Given the description of an element on the screen output the (x, y) to click on. 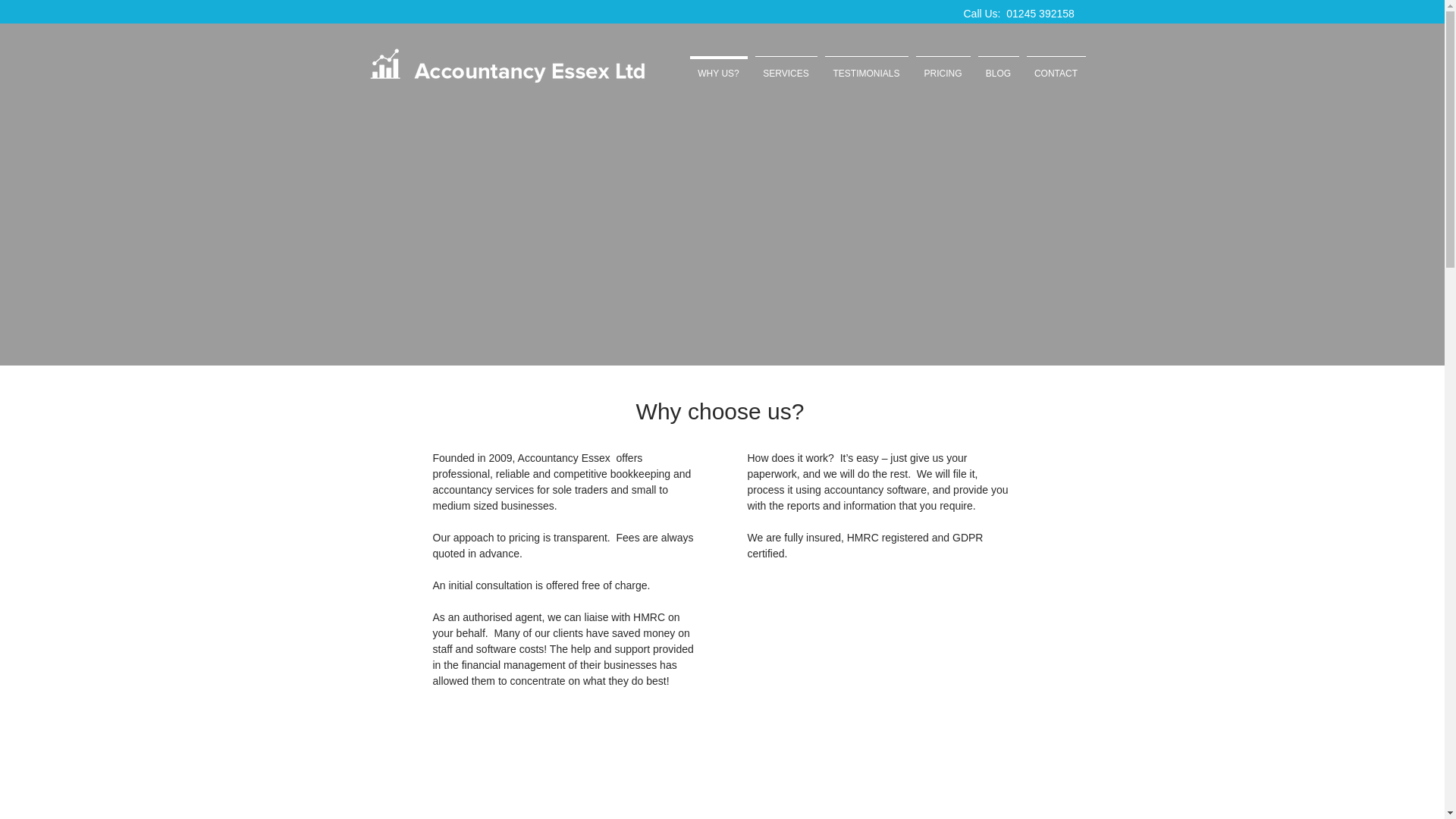
TESTIMONIALS (866, 66)
PRICING (942, 66)
Accountant Essex (506, 65)
SERVICES (786, 66)
CONTACT (1055, 66)
BLOG (998, 66)
WHY US? (718, 66)
